Given the description of an element on the screen output the (x, y) to click on. 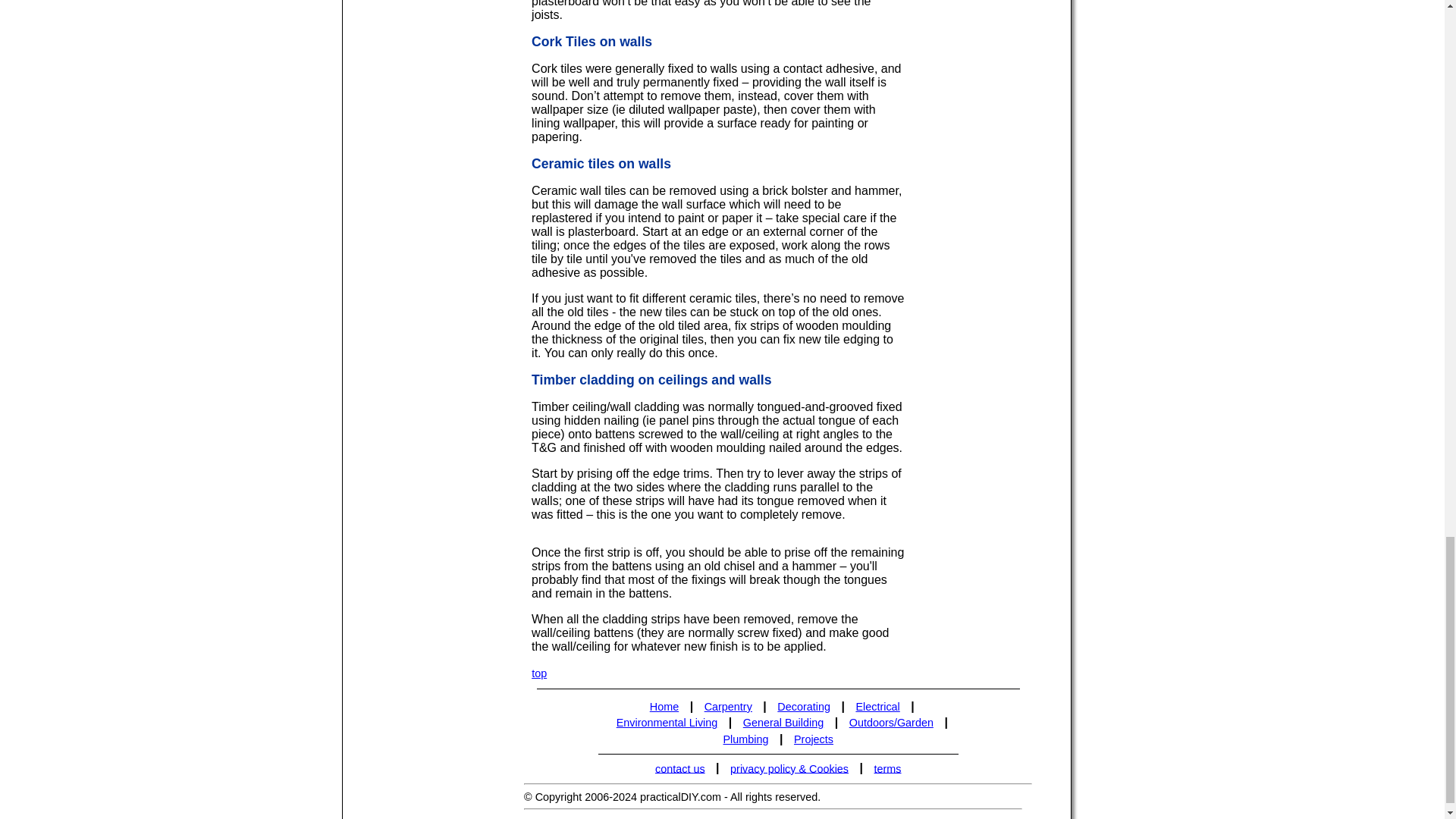
Carpentry (727, 706)
Decorating (802, 706)
Projects (813, 739)
contact us (679, 768)
Environmental Living (666, 722)
Home (664, 706)
Plumbing (745, 739)
General Building (783, 722)
top (538, 673)
terms (888, 768)
Electrical (877, 706)
